Given the description of an element on the screen output the (x, y) to click on. 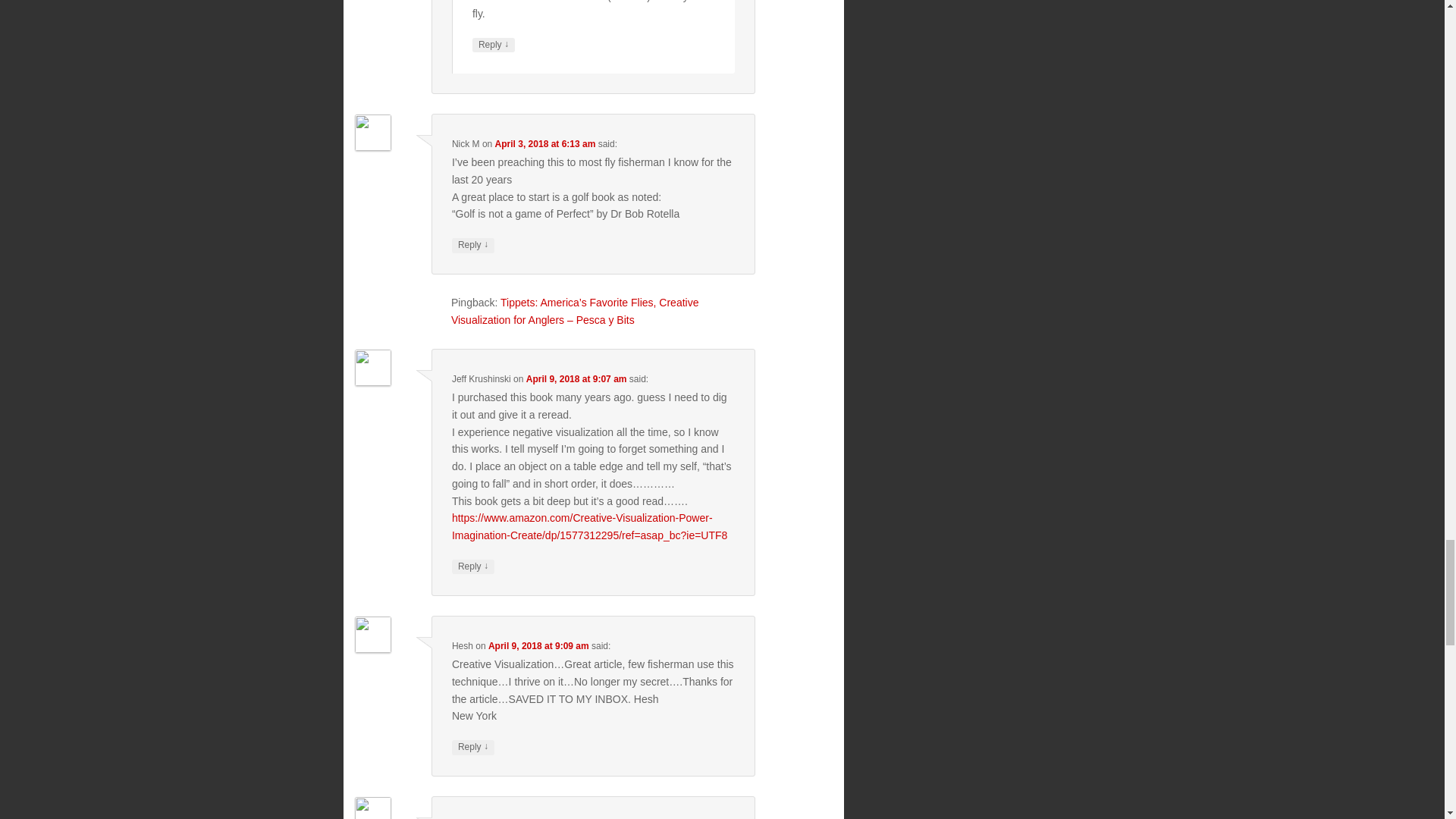
April 9, 2018 at 9:07 am (576, 378)
April 3, 2018 at 6:13 am (545, 143)
